Given the description of an element on the screen output the (x, y) to click on. 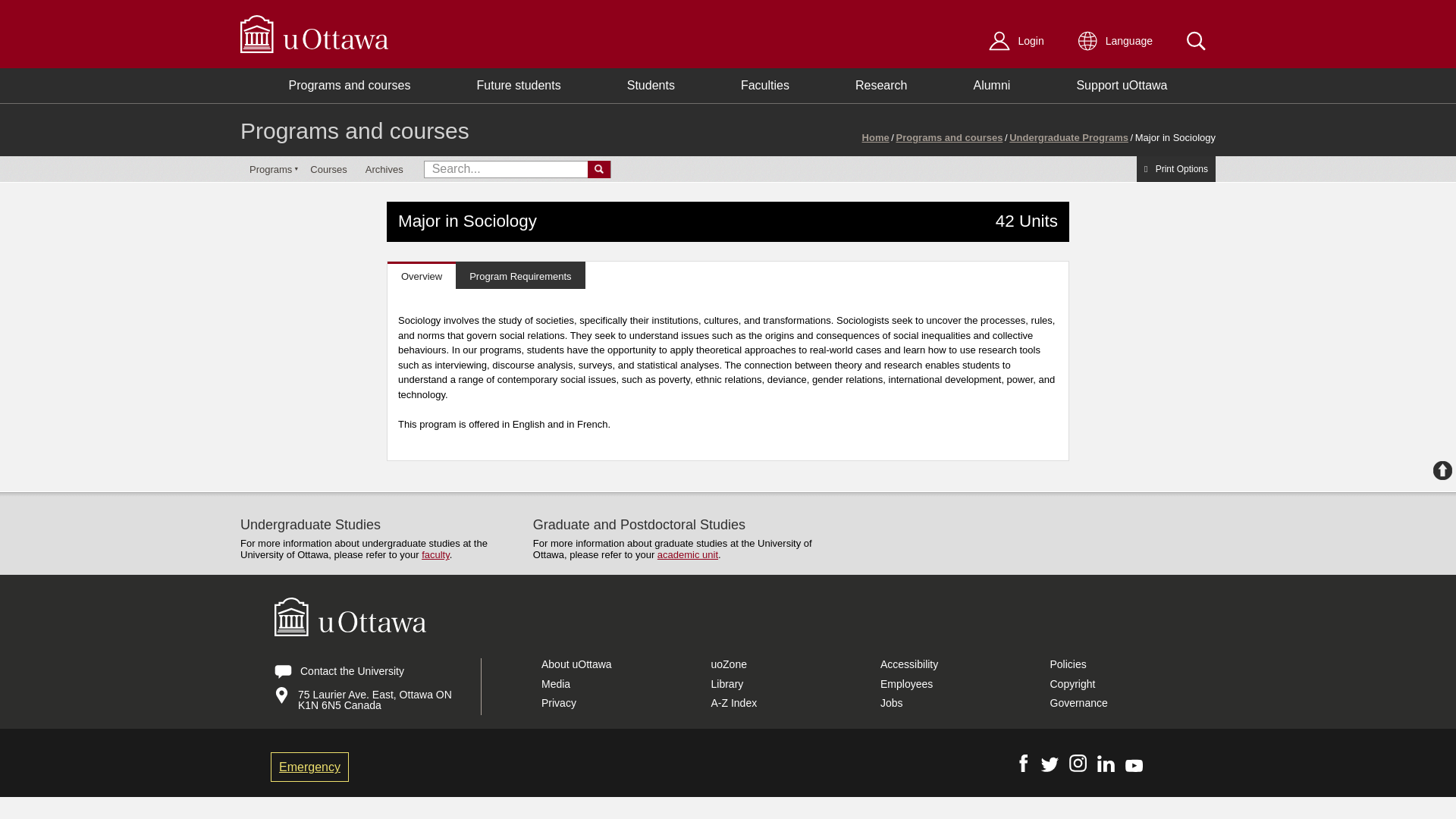
Language (1117, 40)
Future students (519, 85)
Alumni (991, 85)
Programs (270, 169)
Faculties (764, 85)
Login (1019, 40)
Research (881, 85)
Undergraduate Programs (1068, 137)
Program Requirements (520, 275)
Programs and courses (354, 130)
Print Options (1176, 168)
Search (1197, 40)
Home (875, 137)
Programs and courses (949, 137)
Archives (384, 169)
